Given the description of an element on the screen output the (x, y) to click on. 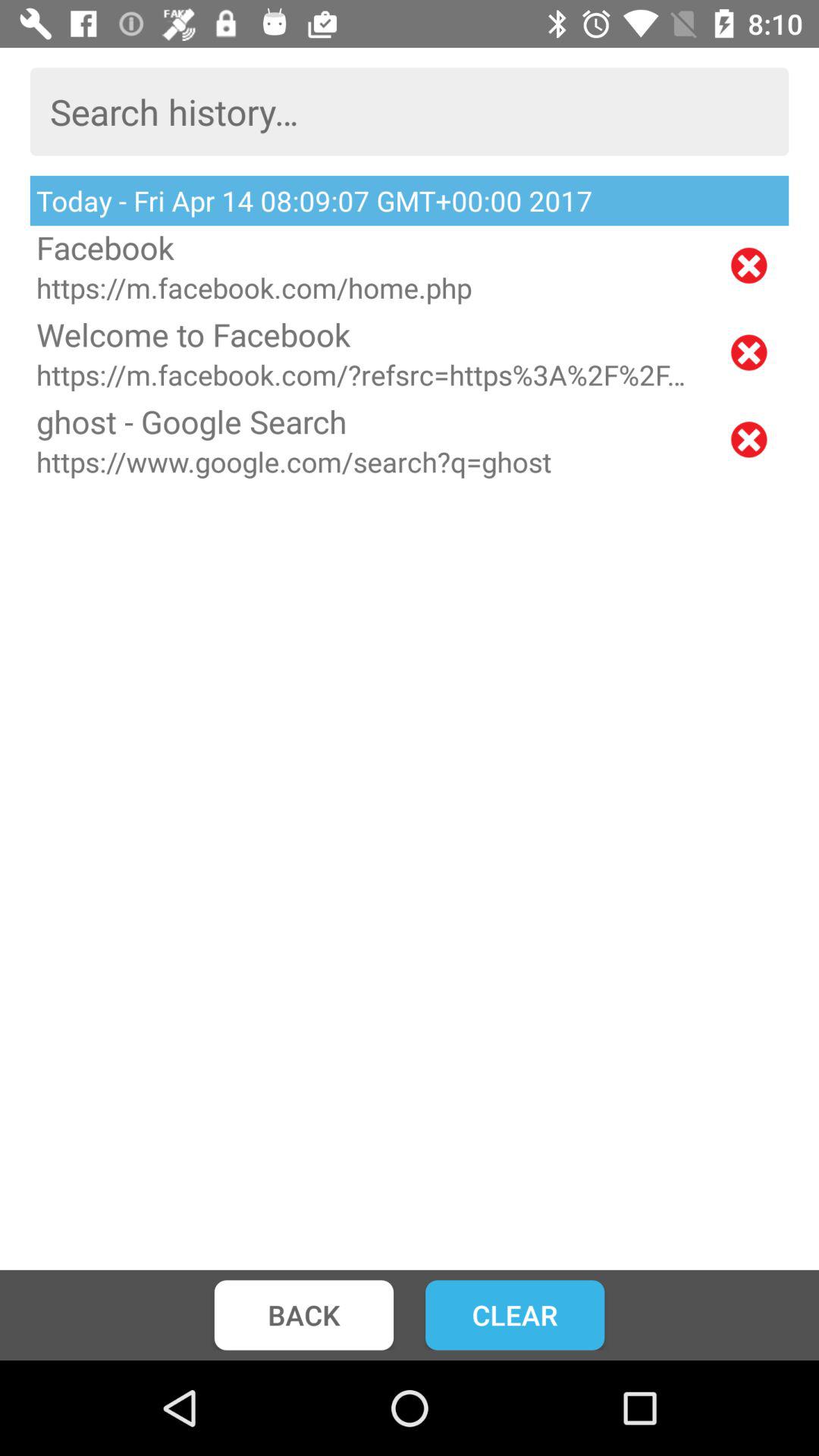
text box for searching (409, 111)
